Given the description of an element on the screen output the (x, y) to click on. 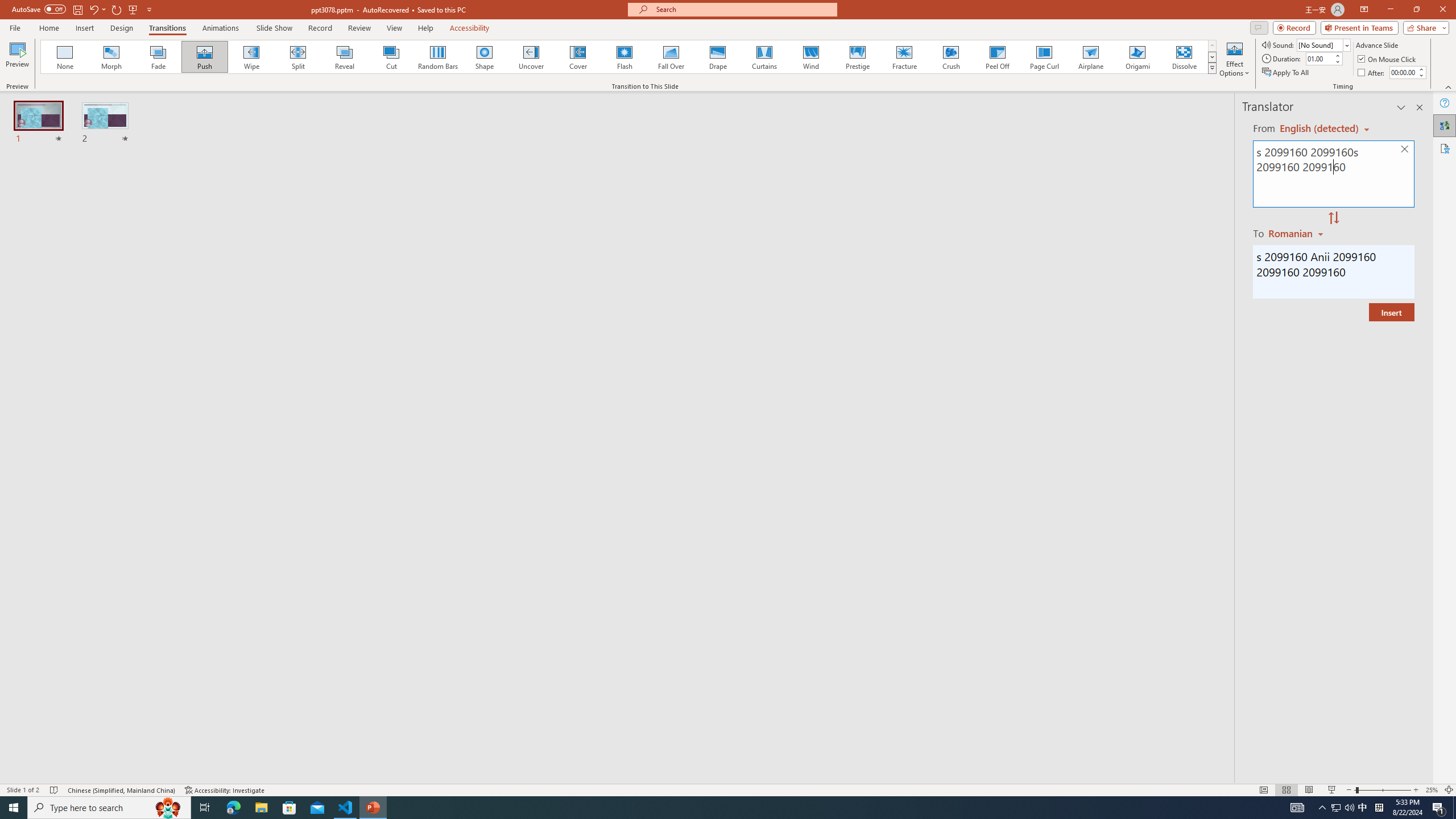
AutomationID: AnimationTransitionGallery (628, 56)
Cover (577, 56)
Airplane (1090, 56)
Fall Over (670, 56)
